Given the description of an element on the screen output the (x, y) to click on. 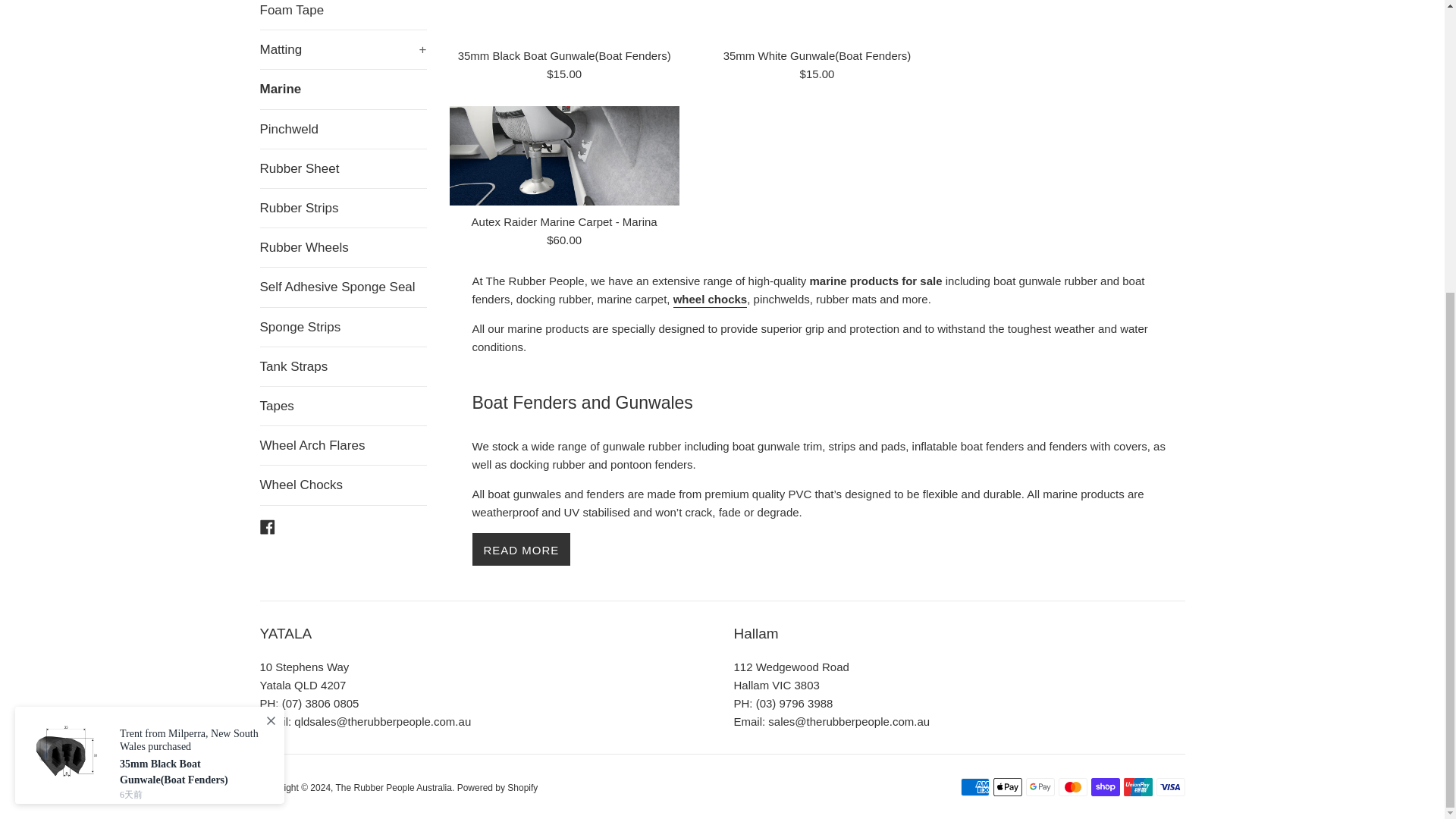
Visa (1170, 787)
Shop Pay (1104, 787)
Union Pay (1138, 787)
Rubber Sheet (342, 168)
Rubber Strips (342, 208)
The Rubber People Australia on Facebook (267, 525)
Wheel Chocks (710, 299)
Pinchweld (342, 128)
Tank Straps (342, 366)
Foam Tape (342, 14)
